Given the description of an element on the screen output the (x, y) to click on. 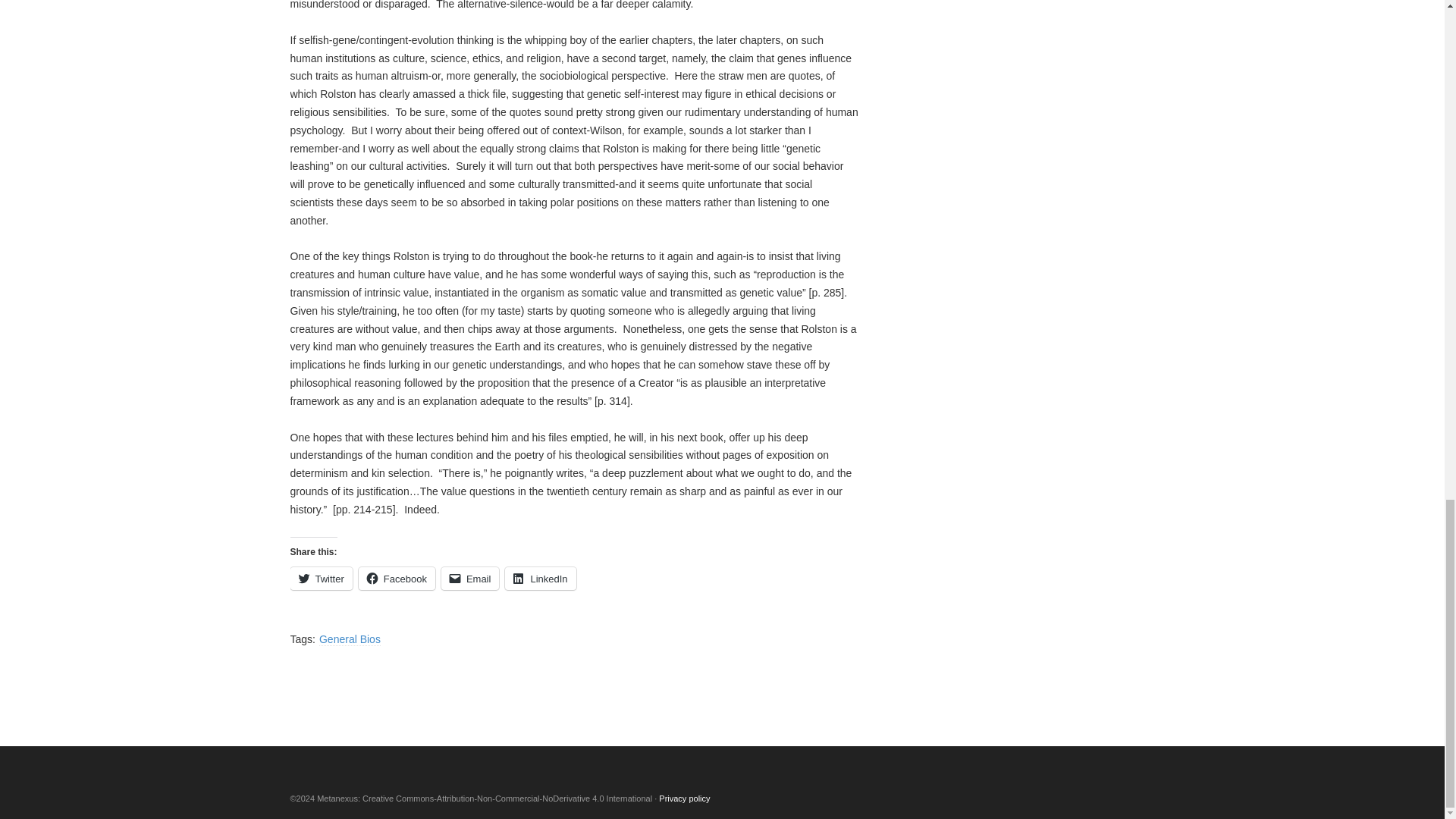
Click to share on Facebook (396, 578)
Twitter (320, 578)
Privacy policy and GDPR compliance (684, 798)
LinkedIn (540, 578)
Click to share on LinkedIn (540, 578)
General Bios (349, 639)
Email (470, 578)
Facebook (396, 578)
Click to email a link to a friend (470, 578)
Click to share on Twitter (320, 578)
